Given the description of an element on the screen output the (x, y) to click on. 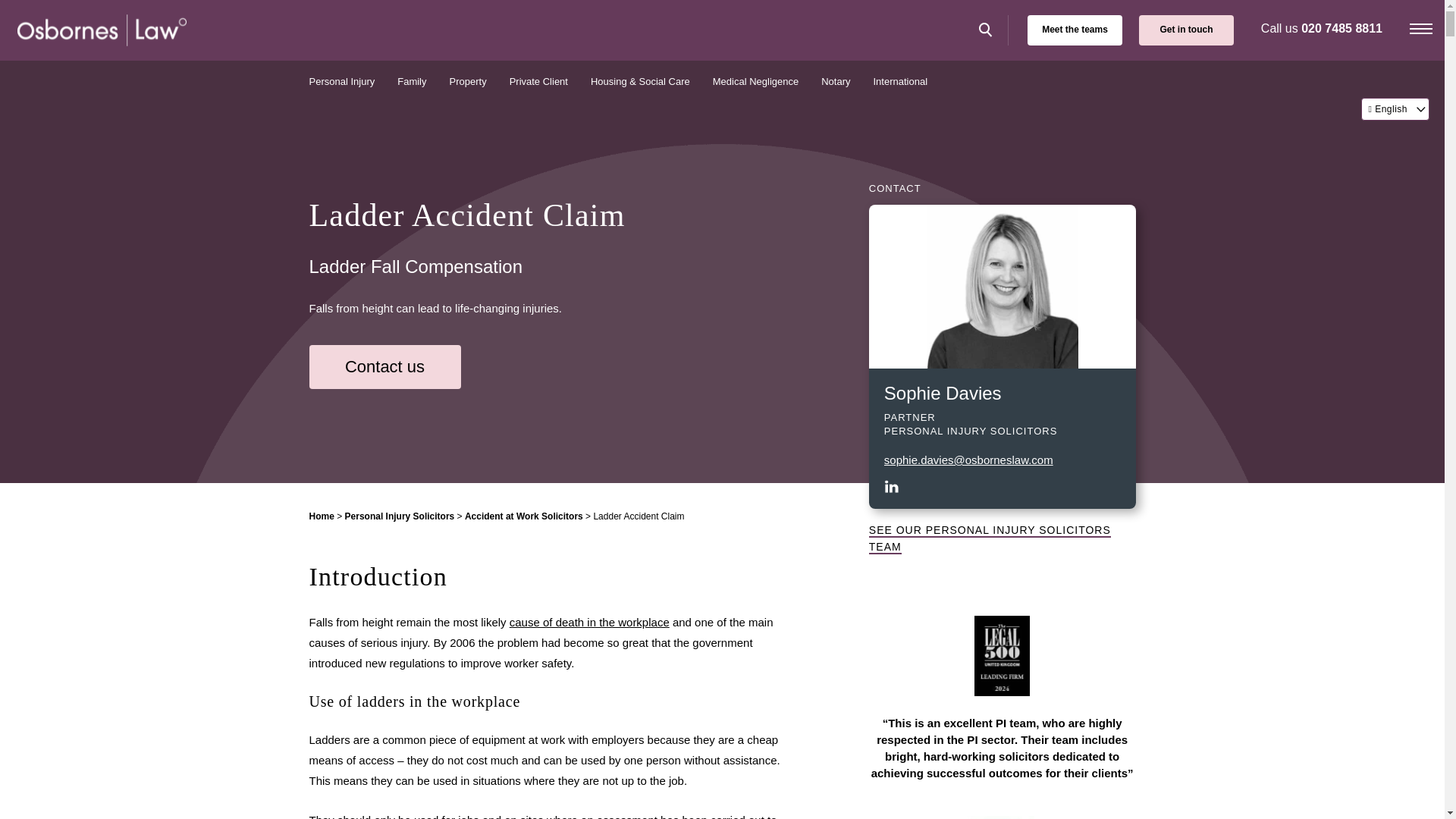
Search (990, 30)
Notary (839, 81)
Medical Negligence (759, 81)
Chambers 2022 firm (1002, 817)
Meet the teams (1074, 30)
Personal Injury Solicitors (399, 516)
Search (990, 30)
Accident at Work Solicitors (523, 516)
Home (321, 516)
Contact us (384, 366)
Family (415, 81)
020 7485 8811 (1341, 28)
International (900, 81)
Property (470, 81)
Get in touch (1185, 30)
